Given the description of an element on the screen output the (x, y) to click on. 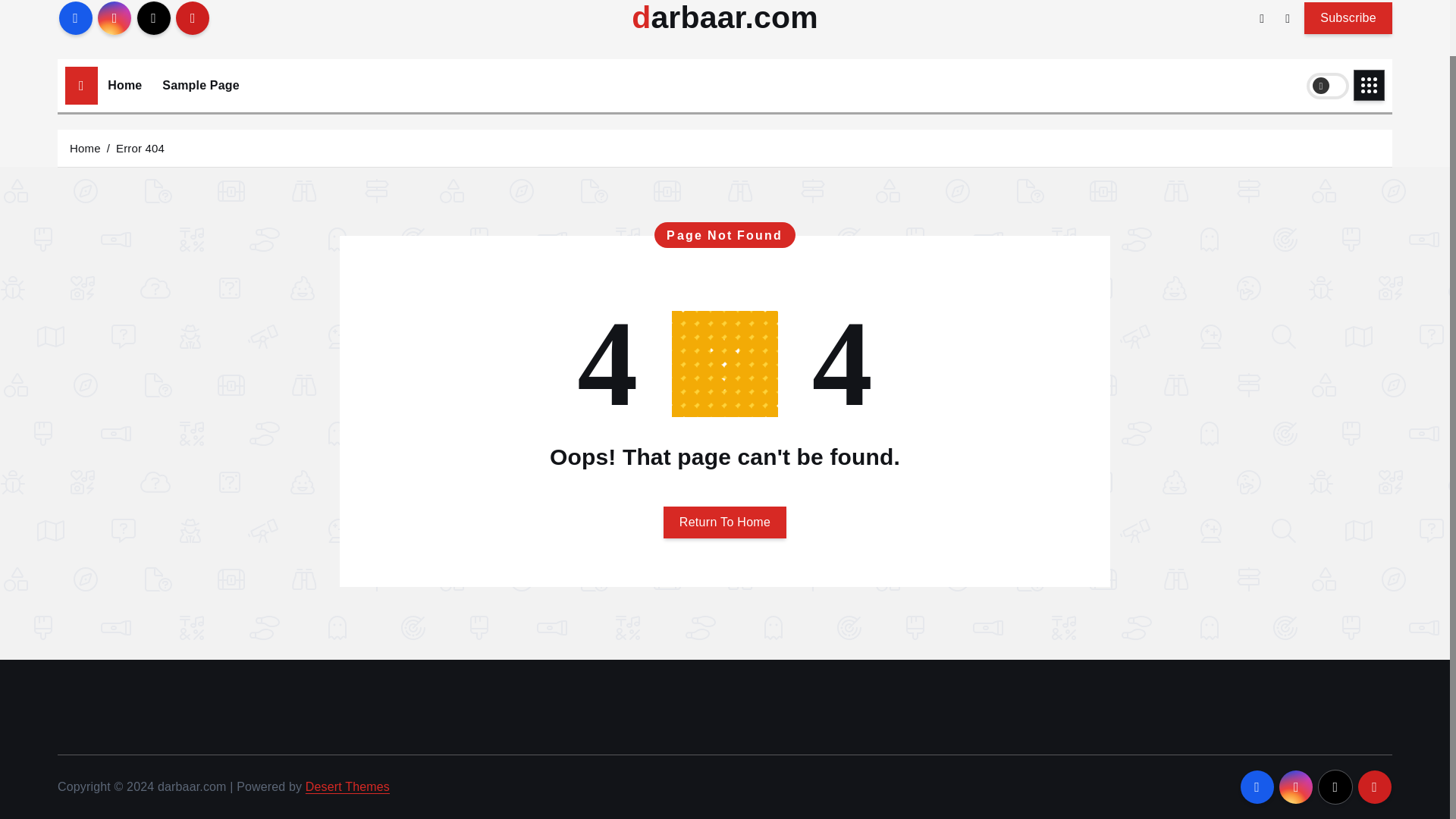
Subscribe (1347, 17)
Return To Home (724, 522)
darbaar.com (724, 17)
Sample Page (200, 85)
Desert Themes (347, 786)
Home (124, 85)
Home (124, 85)
Error 404 (140, 146)
Home (84, 146)
